Given the description of an element on the screen output the (x, y) to click on. 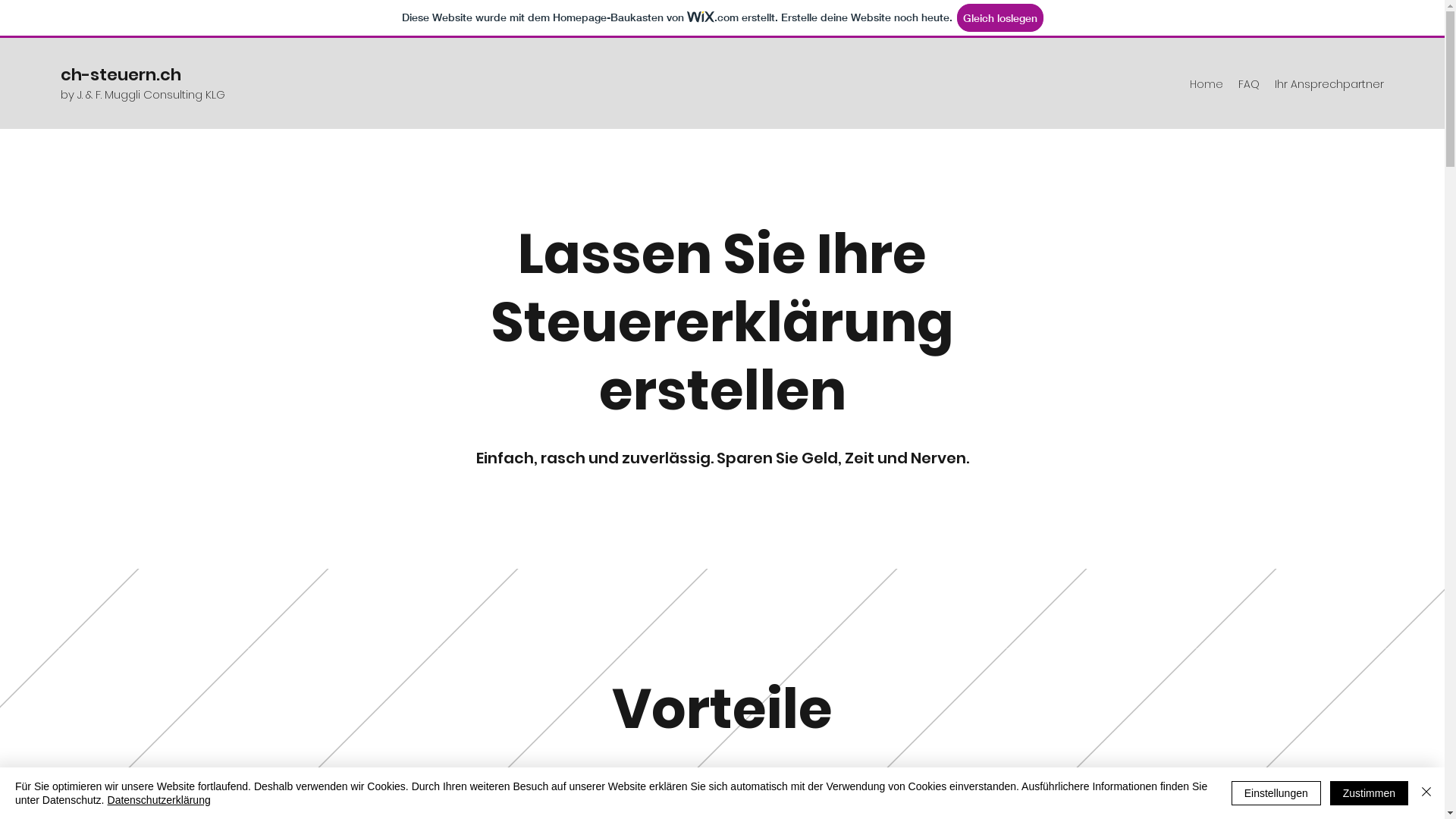
Home Element type: text (1206, 83)
by J. & F. Muggli Consulting KLG Element type: text (142, 94)
Zustimmen Element type: text (1369, 793)
FAQ Element type: text (1248, 83)
Einstellungen Element type: text (1276, 793)
Ihr Ansprechpartner Element type: text (1329, 83)
ch-steuern.ch Element type: text (120, 74)
